Given the description of an element on the screen output the (x, y) to click on. 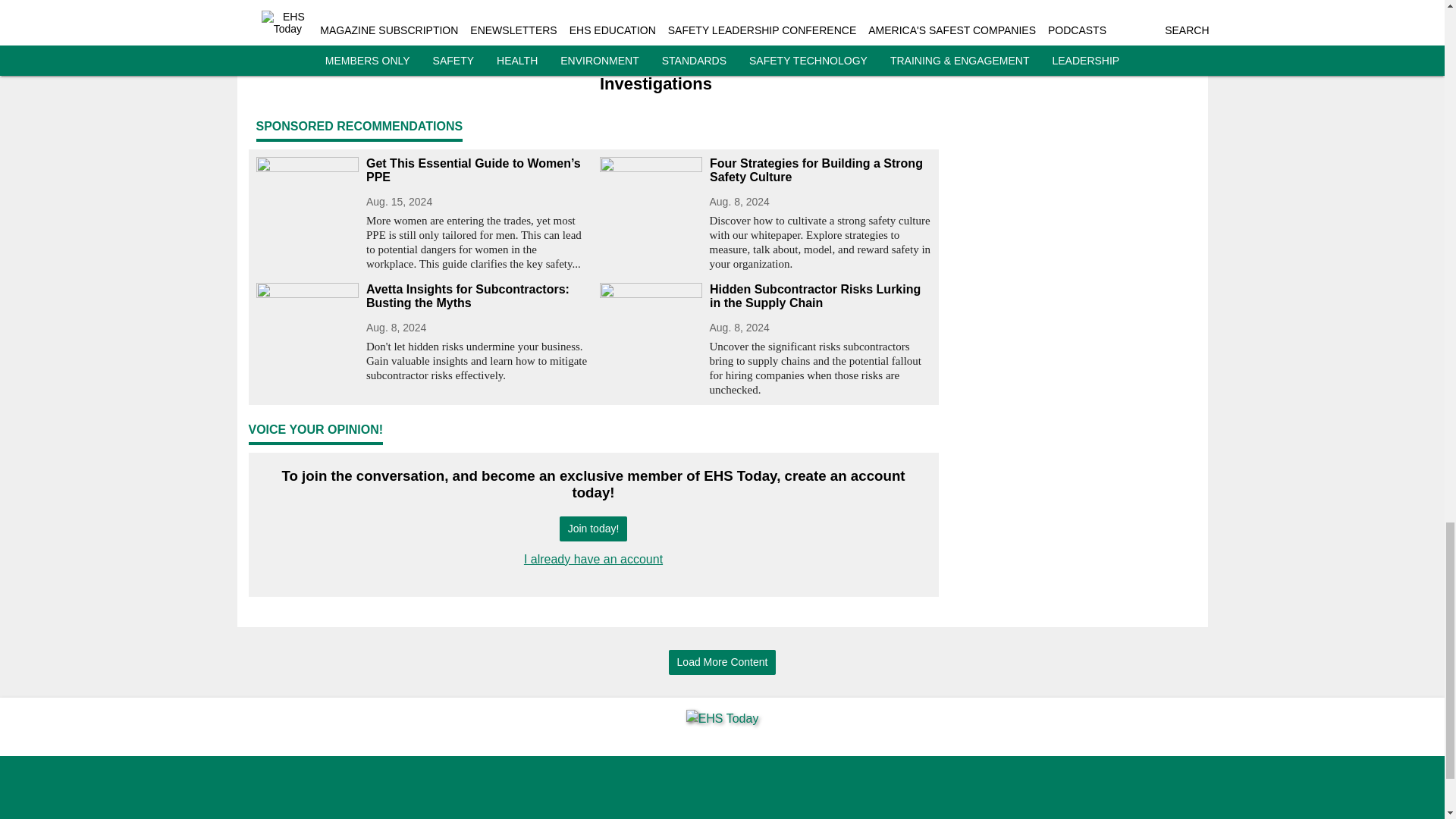
SIF Prevention Starts with Better Investigations (764, 74)
I already have an account (593, 558)
Avetta Insights for Subcontractors: Busting the Myths (476, 296)
Four Strategies for Building a Strong Safety Culture (820, 170)
Are You Being Paid What You're Worth? (422, 64)
Hidden Subcontractor Risks Lurking in the Supply Chain (820, 296)
Join today! (593, 528)
